Given the description of an element on the screen output the (x, y) to click on. 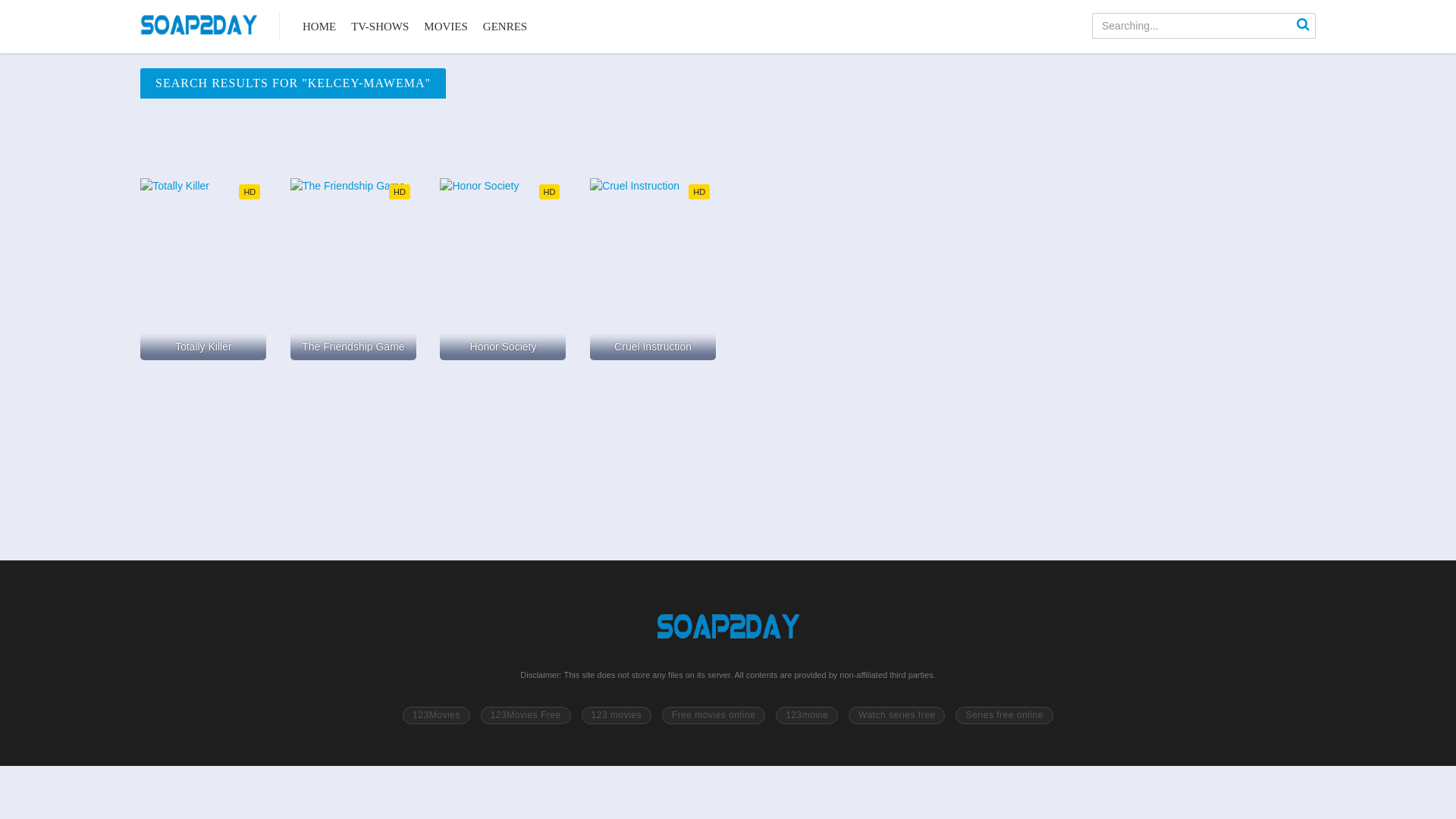
Watch series free Element type: text (896, 715)
123 movies Element type: text (616, 715)
Search Element type: hover (1302, 25)
123Movies Element type: text (436, 715)
Series free online Element type: text (1003, 715)
Free movies online Element type: text (713, 715)
123movie Element type: text (806, 715)
MOVIES Element type: text (445, 26)
GENRES Element type: text (504, 26)
HD
Totally Killer Element type: text (203, 269)
HD
The Friendship Game Element type: text (353, 269)
HD
Honor Society Element type: text (502, 269)
TV-SHOWS Element type: text (379, 26)
HD
Cruel Instruction Element type: text (652, 269)
123Movies Free Element type: text (525, 715)
123 Movies Online Element type: hover (198, 26)
HOME Element type: text (318, 26)
